Given the description of an element on the screen output the (x, y) to click on. 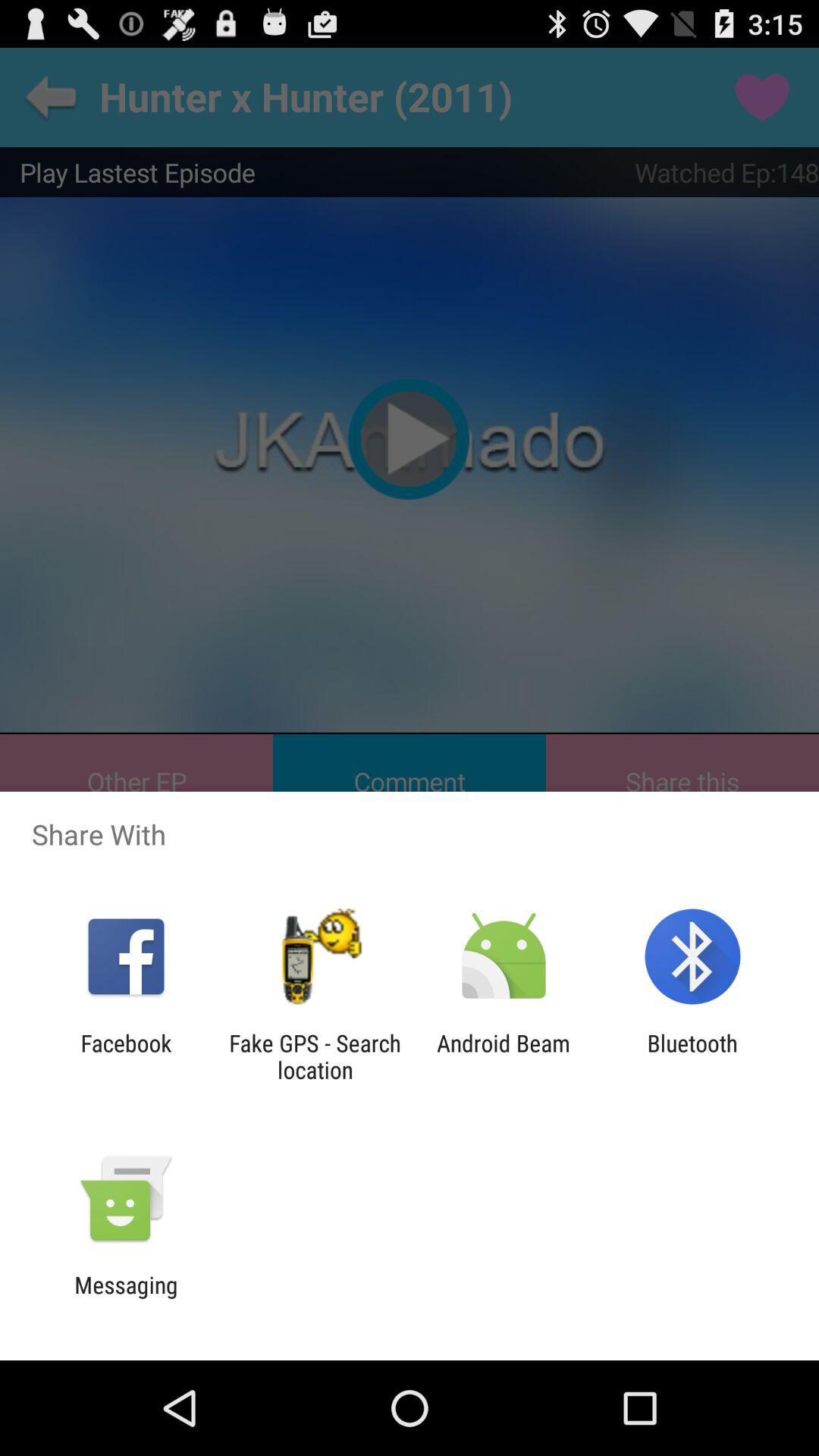
select the app to the right of the fake gps search (503, 1056)
